Given the description of an element on the screen output the (x, y) to click on. 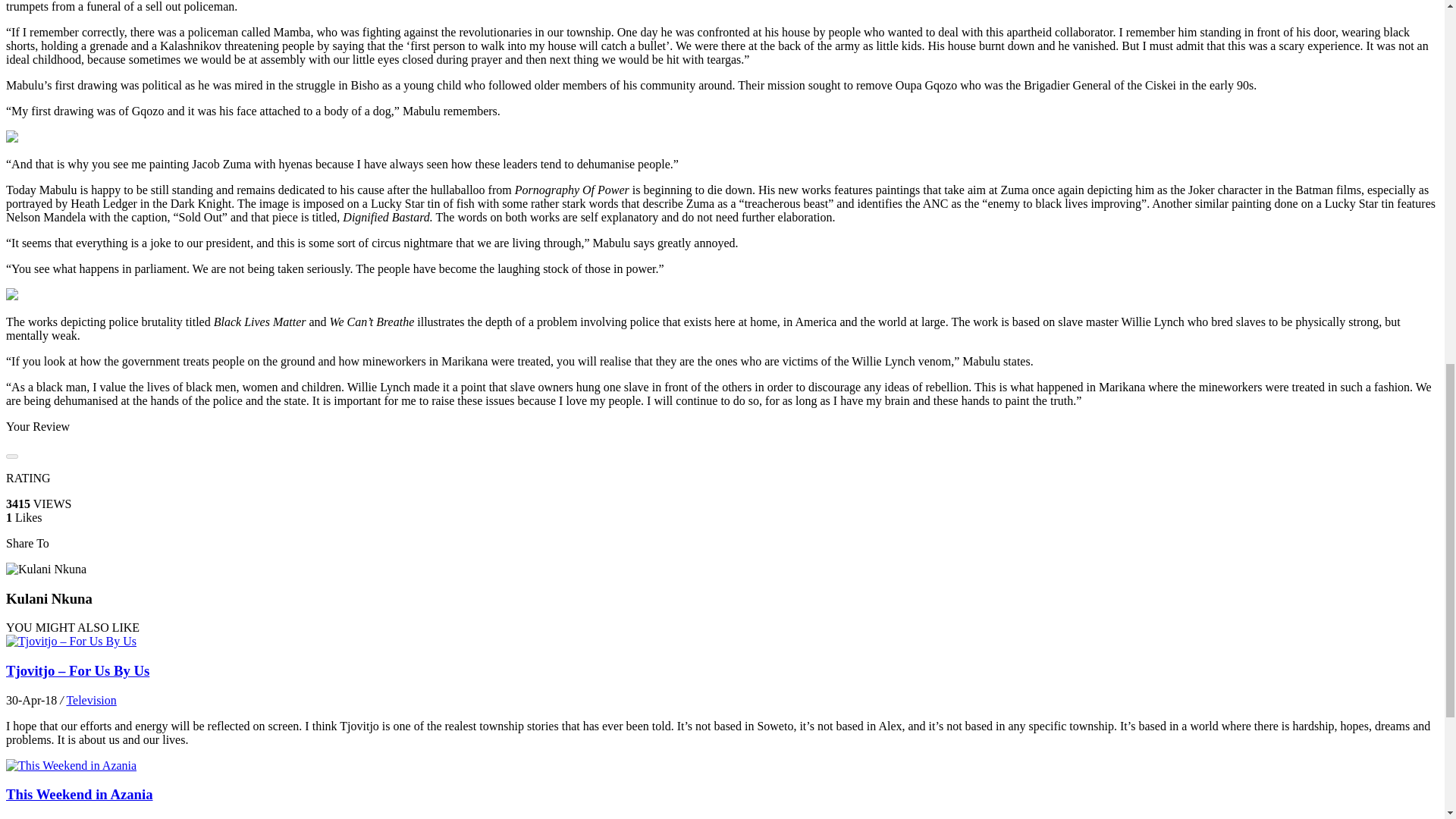
This Weekend in Azania (78, 794)
Television (90, 699)
Culture (83, 818)
